Given the description of an element on the screen output the (x, y) to click on. 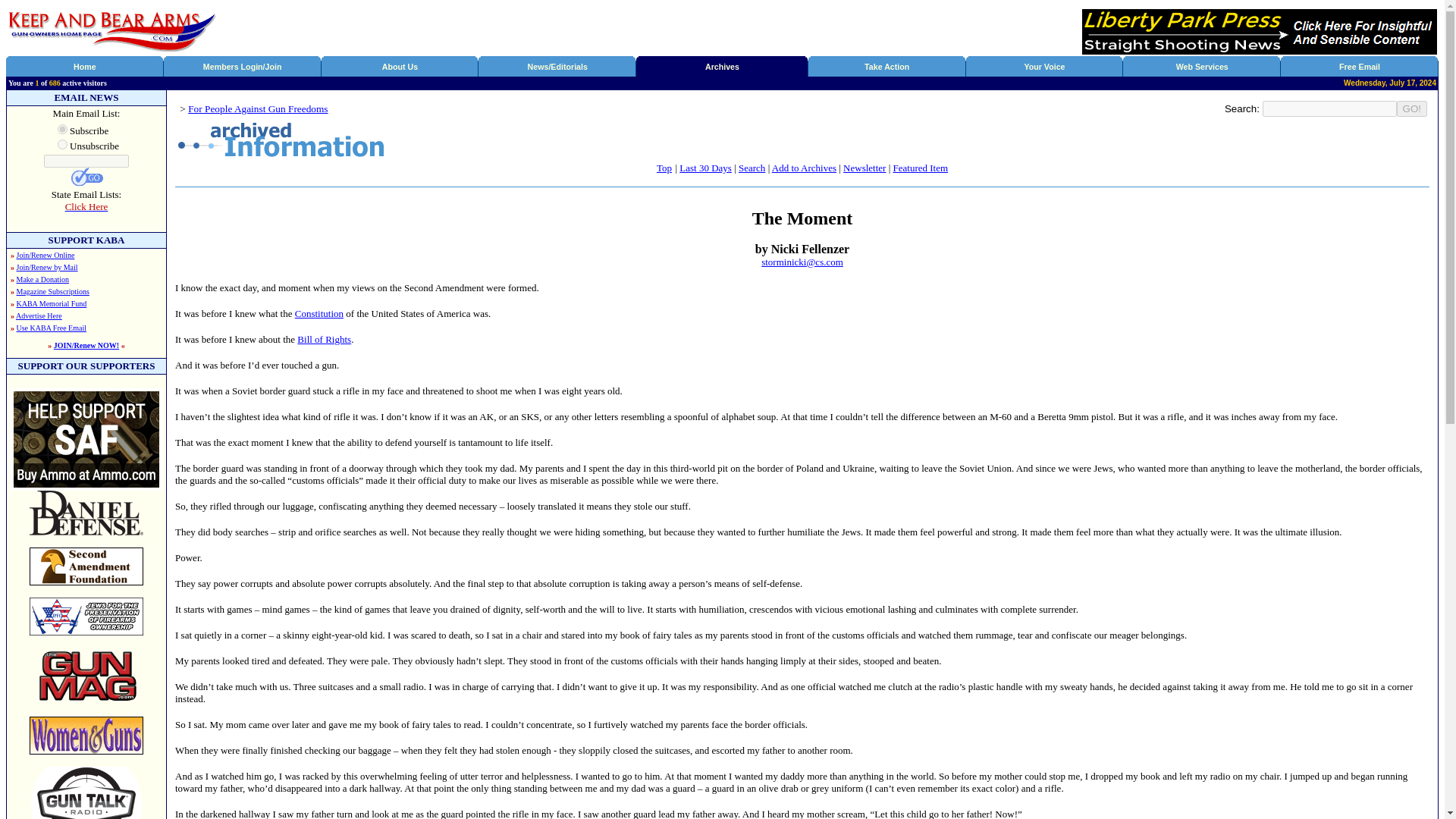
  Submit   (85, 176)
Subscribe (62, 129)
Archives (721, 66)
Advertise Here (39, 316)
Click Here (86, 206)
Freedom Fighter Support at Ammo.com (85, 486)
Make a Donation (42, 279)
Home (85, 66)
Your Voice (1043, 66)
KABA Memorial Fund (51, 303)
GO! (1411, 108)
Free Email (1359, 66)
Web Services (1202, 66)
About Us (399, 66)
Take Action (886, 66)
